Given the description of an element on the screen output the (x, y) to click on. 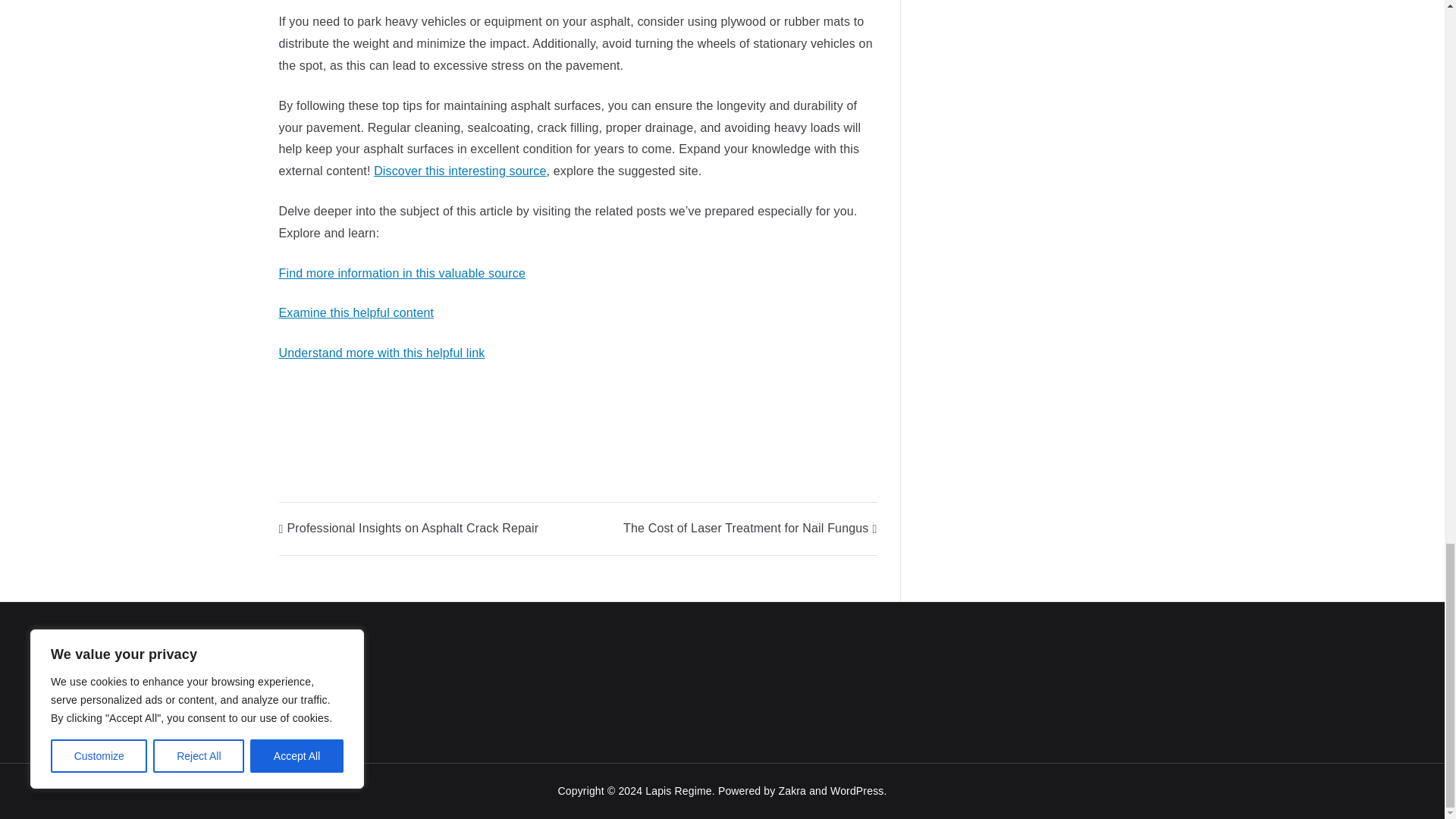
The Cost of Laser Treatment for Nail Fungus (749, 527)
Understand more with this helpful link (381, 352)
WordPress (856, 790)
Lapis Regime (678, 790)
Examine this helpful content (356, 312)
Find more information in this valuable source (402, 273)
Zakra (791, 790)
Professional Insights on Asphalt Crack Repair (408, 527)
Discover this interesting source (460, 170)
